Given the description of an element on the screen output the (x, y) to click on. 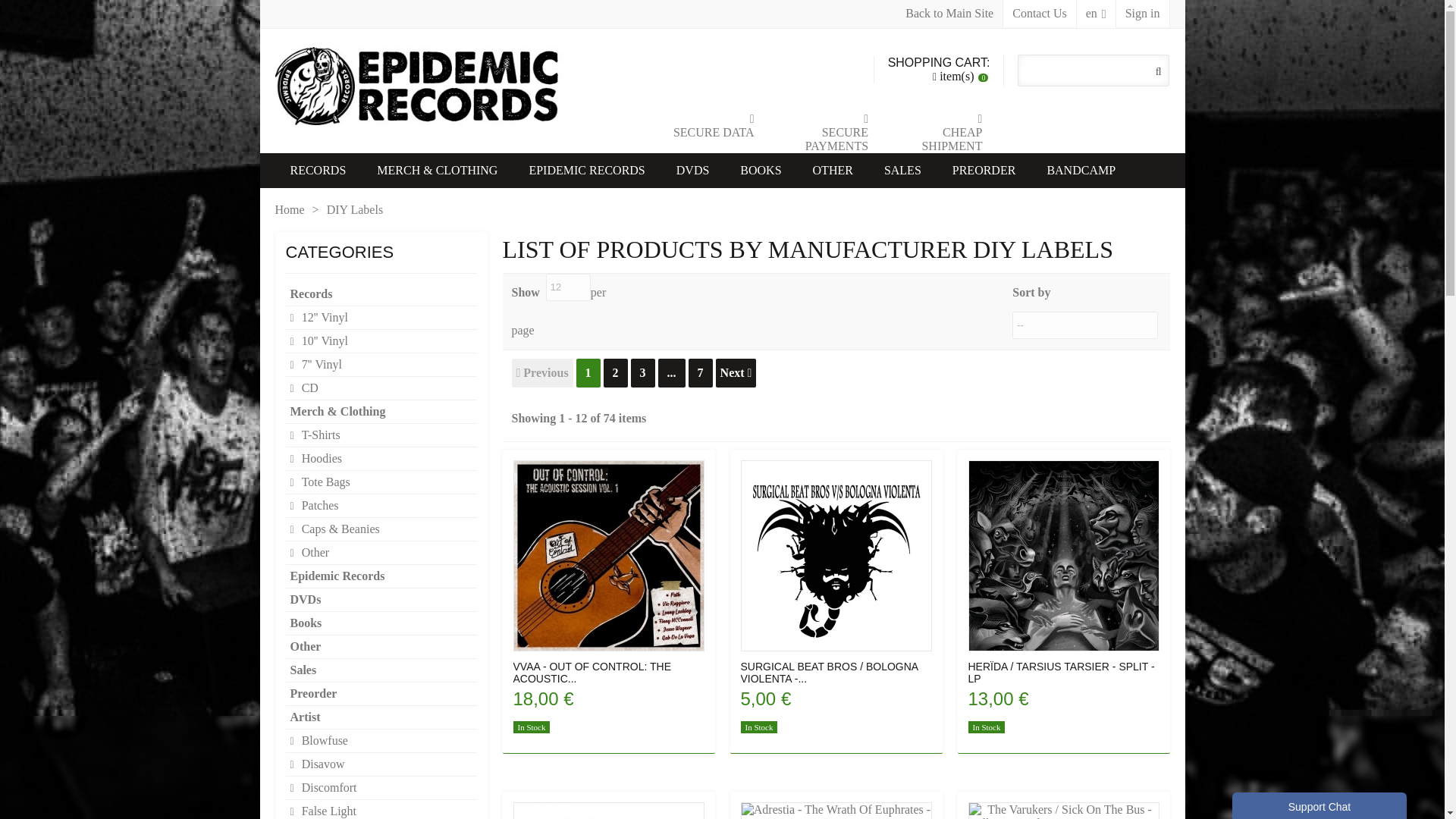
Back to Main Site (949, 13)
Records (318, 170)
DVDS (693, 170)
Patches (380, 505)
Login to your customer account (1142, 13)
Epidemic Records Main Site (949, 13)
Records (380, 294)
Tote Bags (380, 482)
Hoodies (380, 458)
BANDCAMP (1080, 170)
Contact Us (1040, 13)
OTHER (832, 170)
10'' Vinyl (380, 341)
EPIDEMIC RECORDS (586, 170)
7'' Vinyl (380, 364)
